Given the description of an element on the screen output the (x, y) to click on. 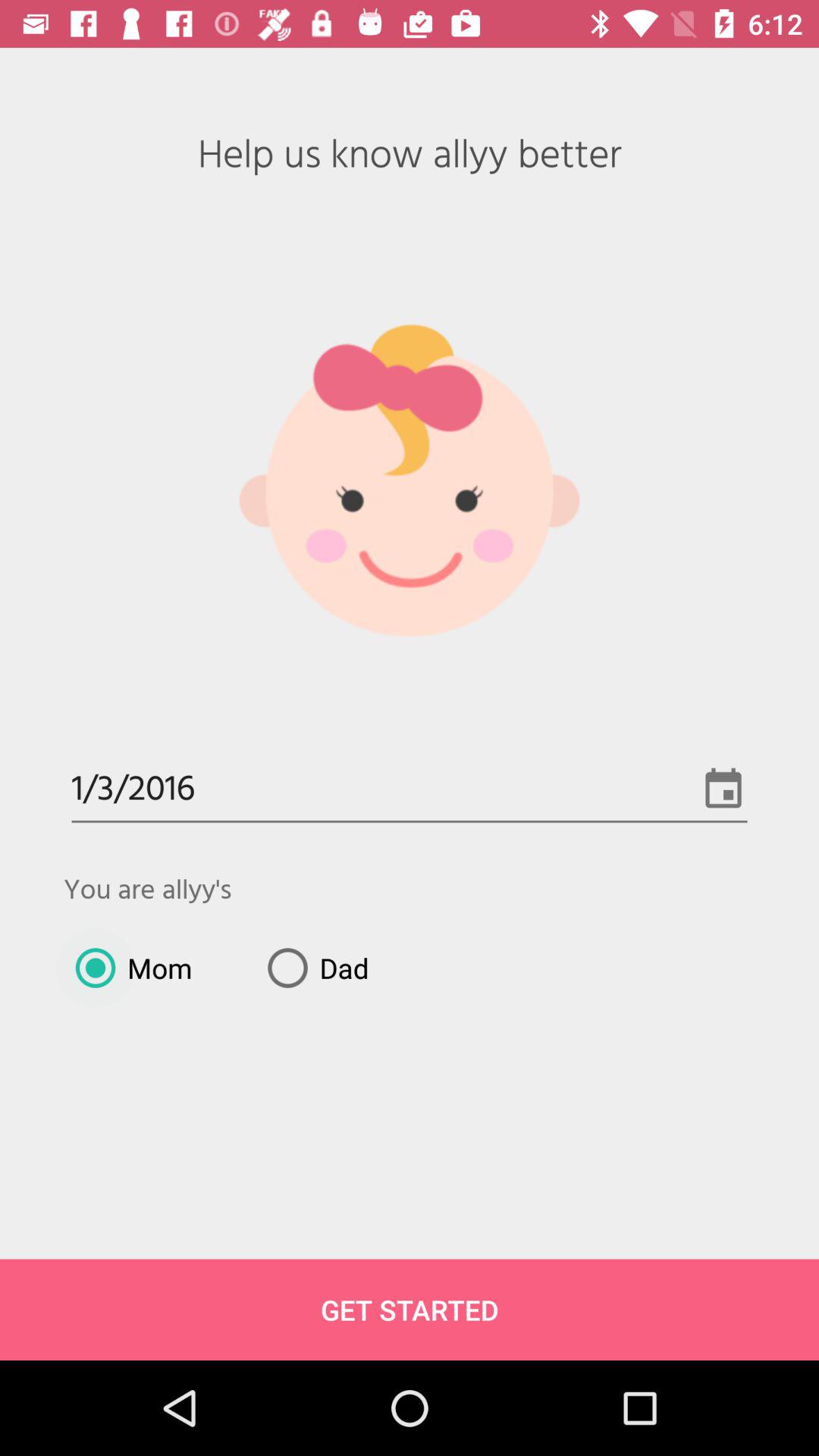
click the item above the you are allyy icon (409, 790)
